Given the description of an element on the screen output the (x, y) to click on. 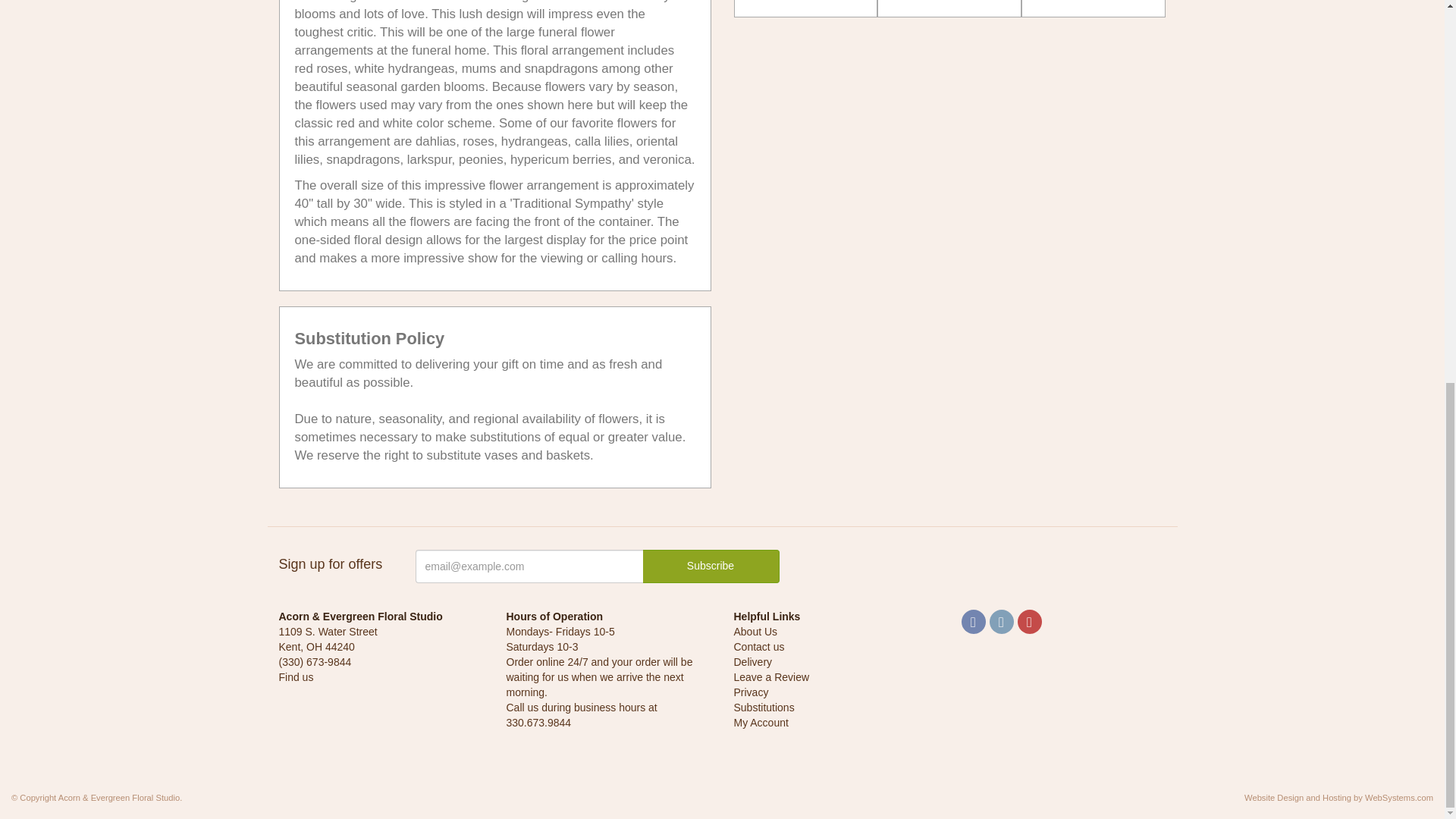
Substitutions (763, 707)
Find us (296, 676)
Privacy (750, 692)
Delivery (753, 662)
Leave a Review (771, 676)
Contact us (758, 646)
Subscribe (710, 566)
Subscribe (710, 566)
About Us (755, 631)
